Given the description of an element on the screen output the (x, y) to click on. 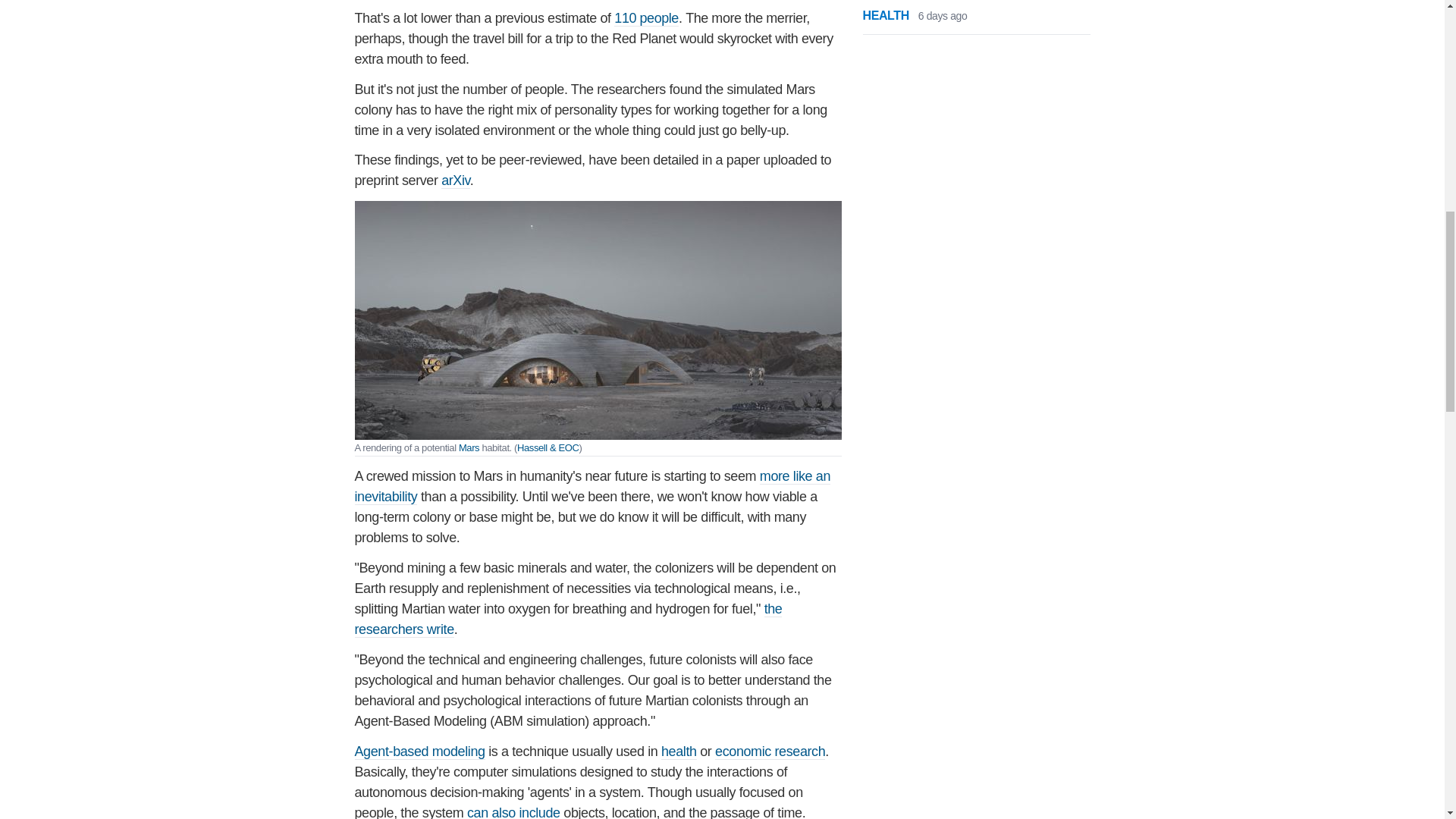
110 people (646, 18)
the researchers write (569, 619)
Agent-based modeling (419, 751)
arXiv (455, 180)
more like an inevitability (593, 486)
Mars (468, 447)
